Given the description of an element on the screen output the (x, y) to click on. 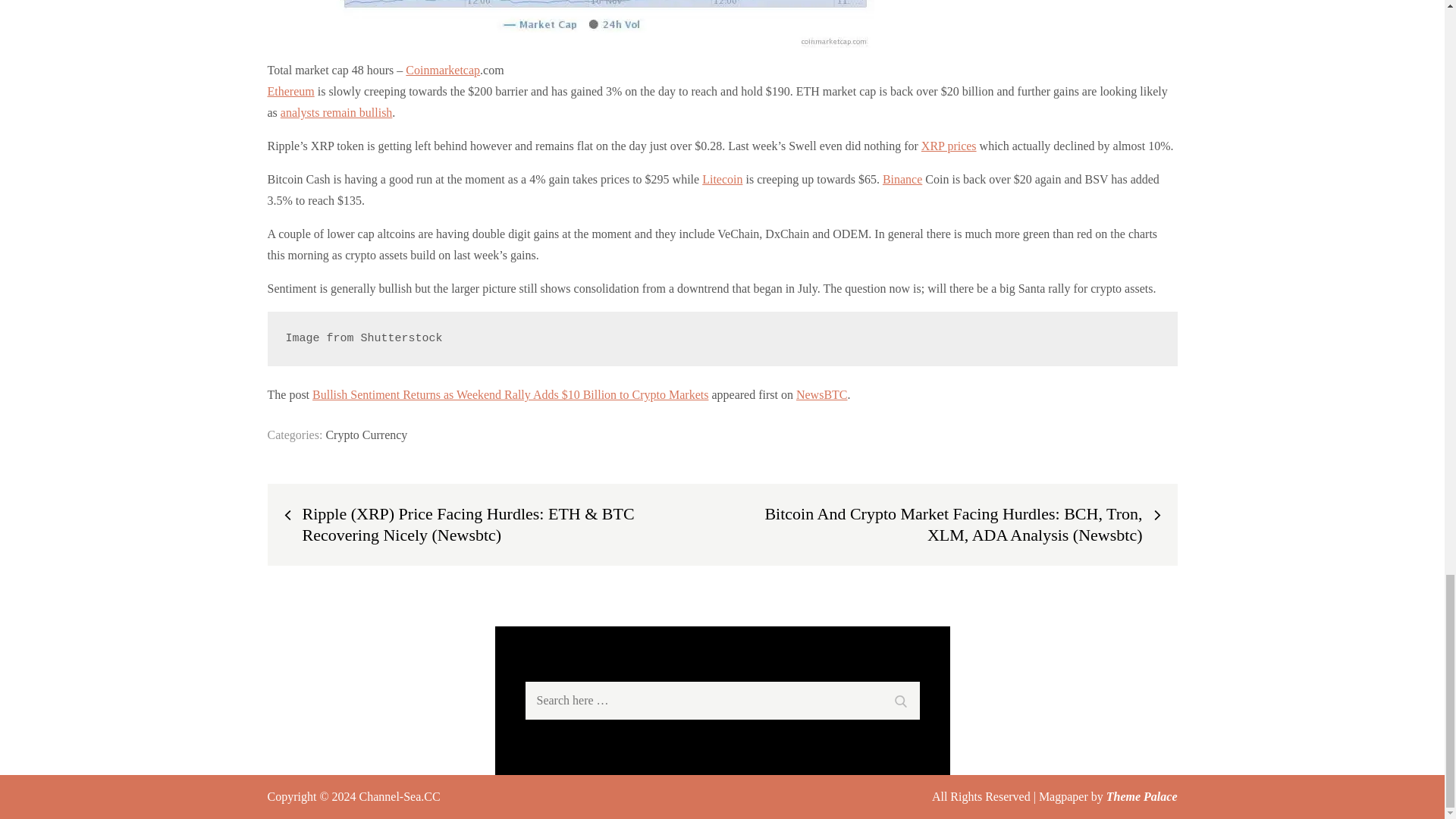
NewsBTC (821, 394)
Crypto Currency (365, 434)
analysts remain bullish (337, 112)
Coinmarketcap (443, 69)
Ethereum (290, 91)
Binance (901, 178)
Litecoin (721, 178)
XRP prices (948, 145)
